Given the description of an element on the screen output the (x, y) to click on. 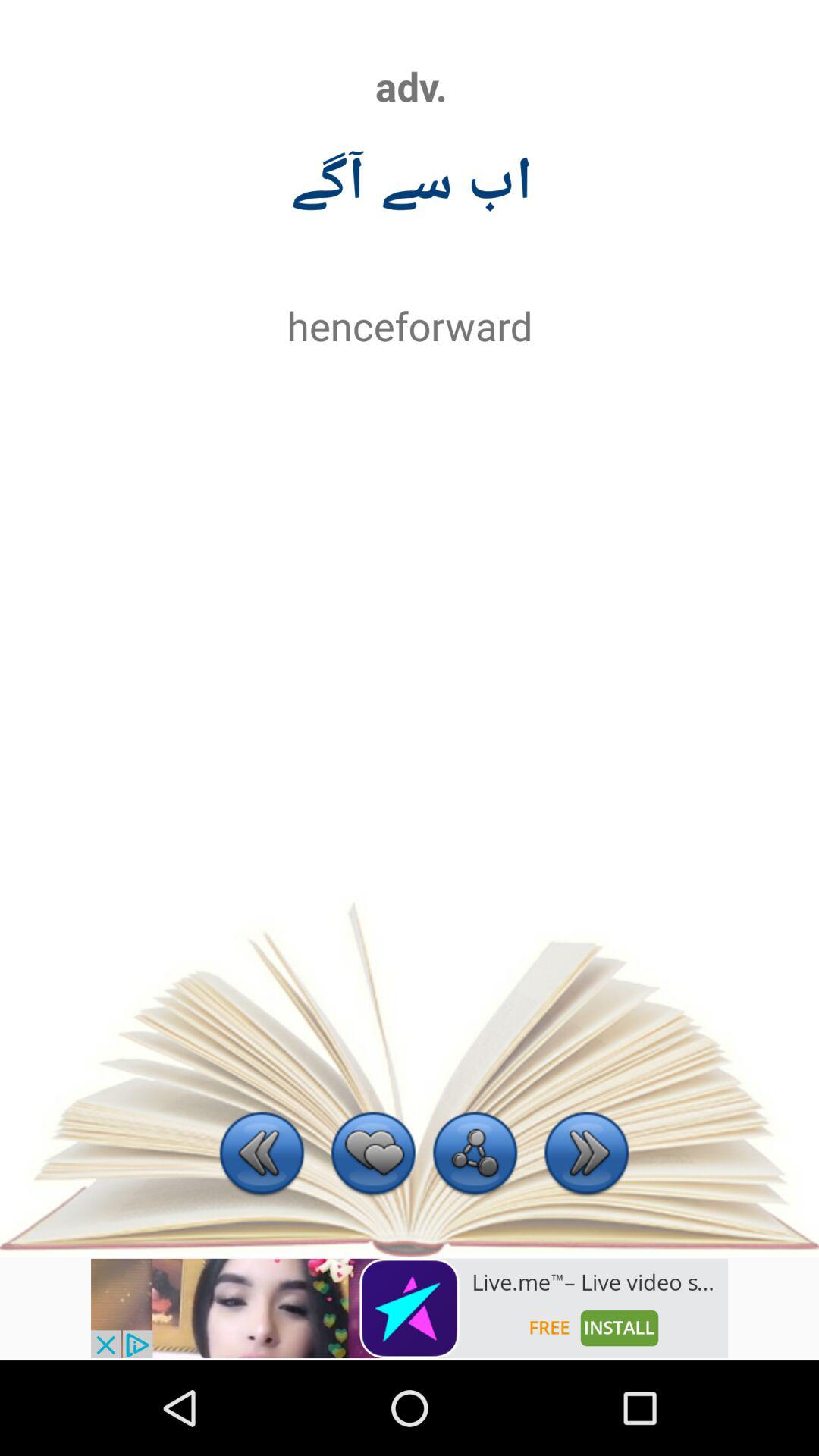
go to previous (261, 1155)
